Given the description of an element on the screen output the (x, y) to click on. 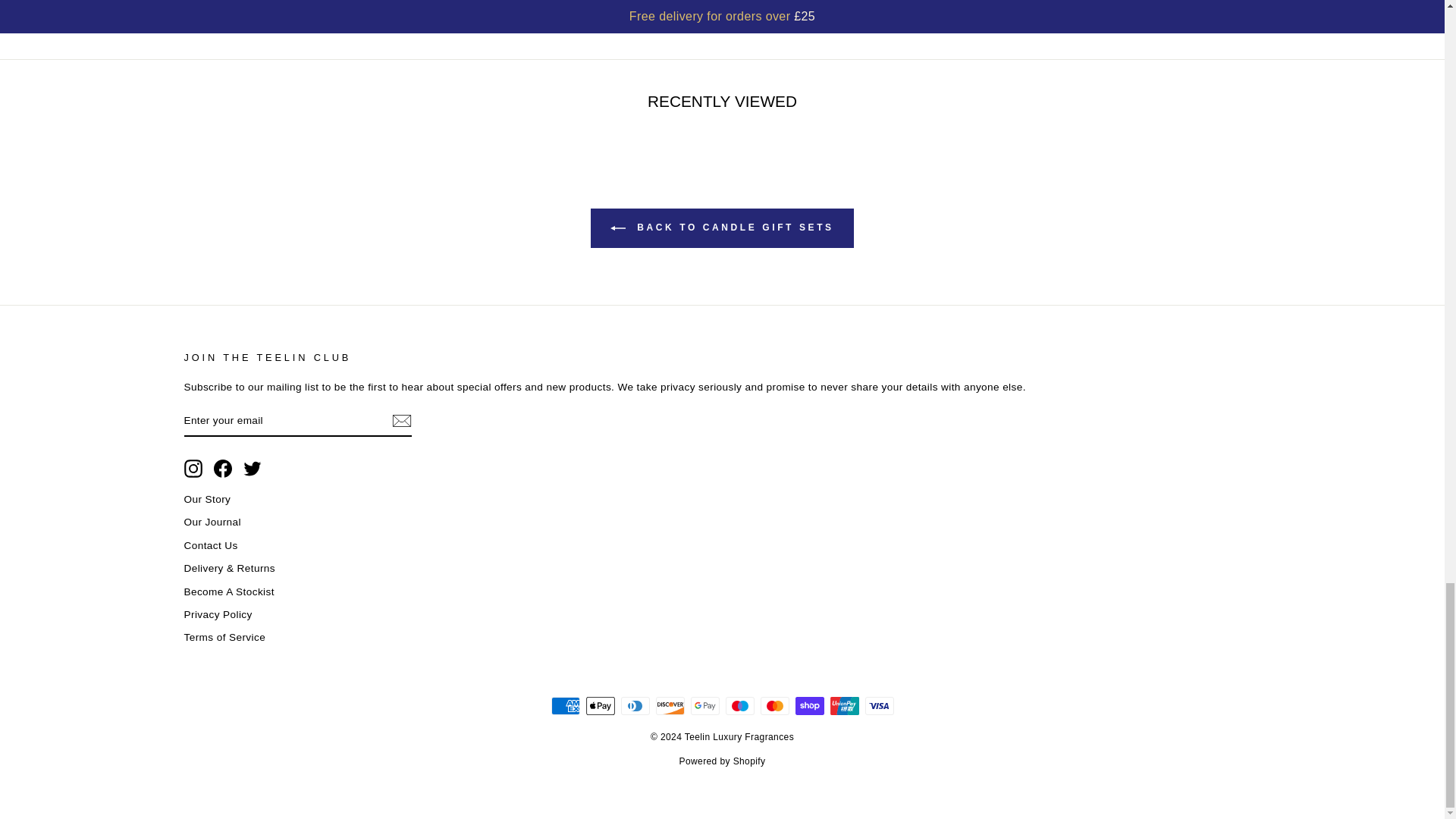
Teelin Luxury Fragrances on Facebook (222, 468)
Diners Club (634, 705)
Teelin Luxury Fragrances on Instagram (192, 468)
Apple Pay (599, 705)
Discover (669, 705)
Google Pay (704, 705)
American Express (564, 705)
Teelin Luxury Fragrances on Twitter (251, 468)
